Given the description of an element on the screen output the (x, y) to click on. 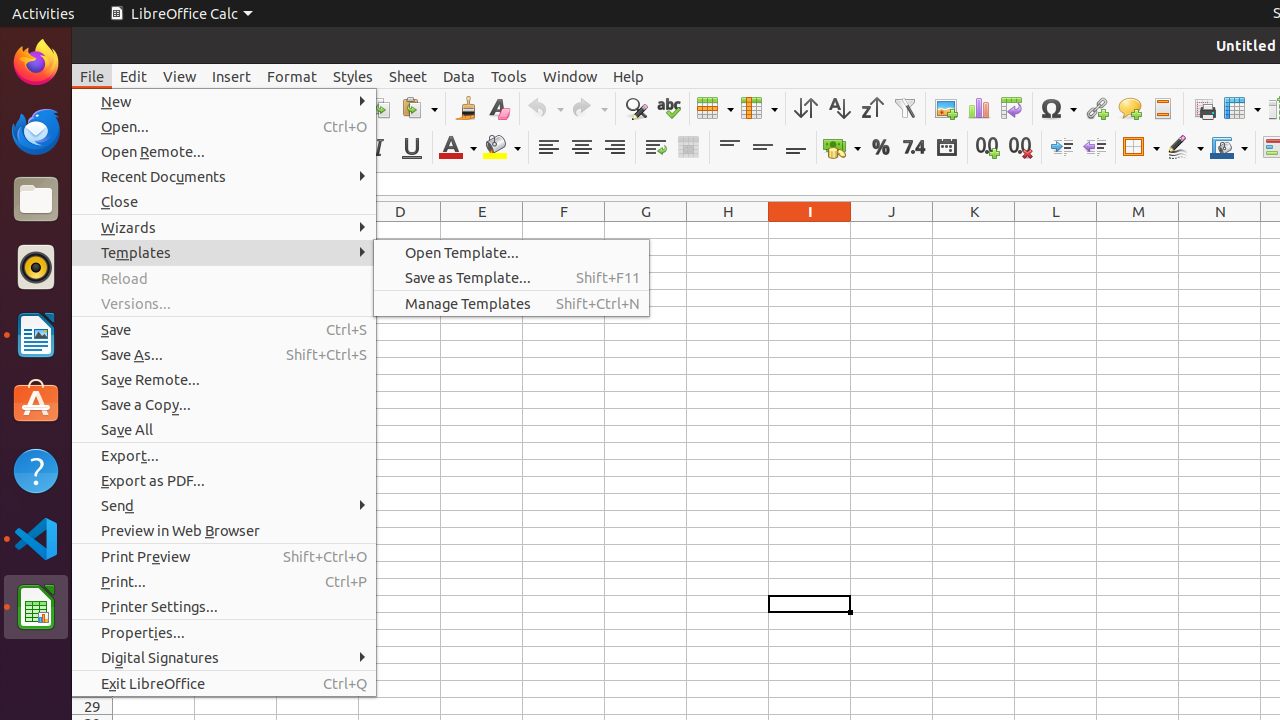
I1 Element type: table-cell (810, 230)
Recent Documents Element type: menu (224, 176)
Save All Element type: menu-item (224, 429)
Insert Element type: menu (231, 76)
Merge and Center Cells Element type: push-button (688, 147)
